Given the description of an element on the screen output the (x, y) to click on. 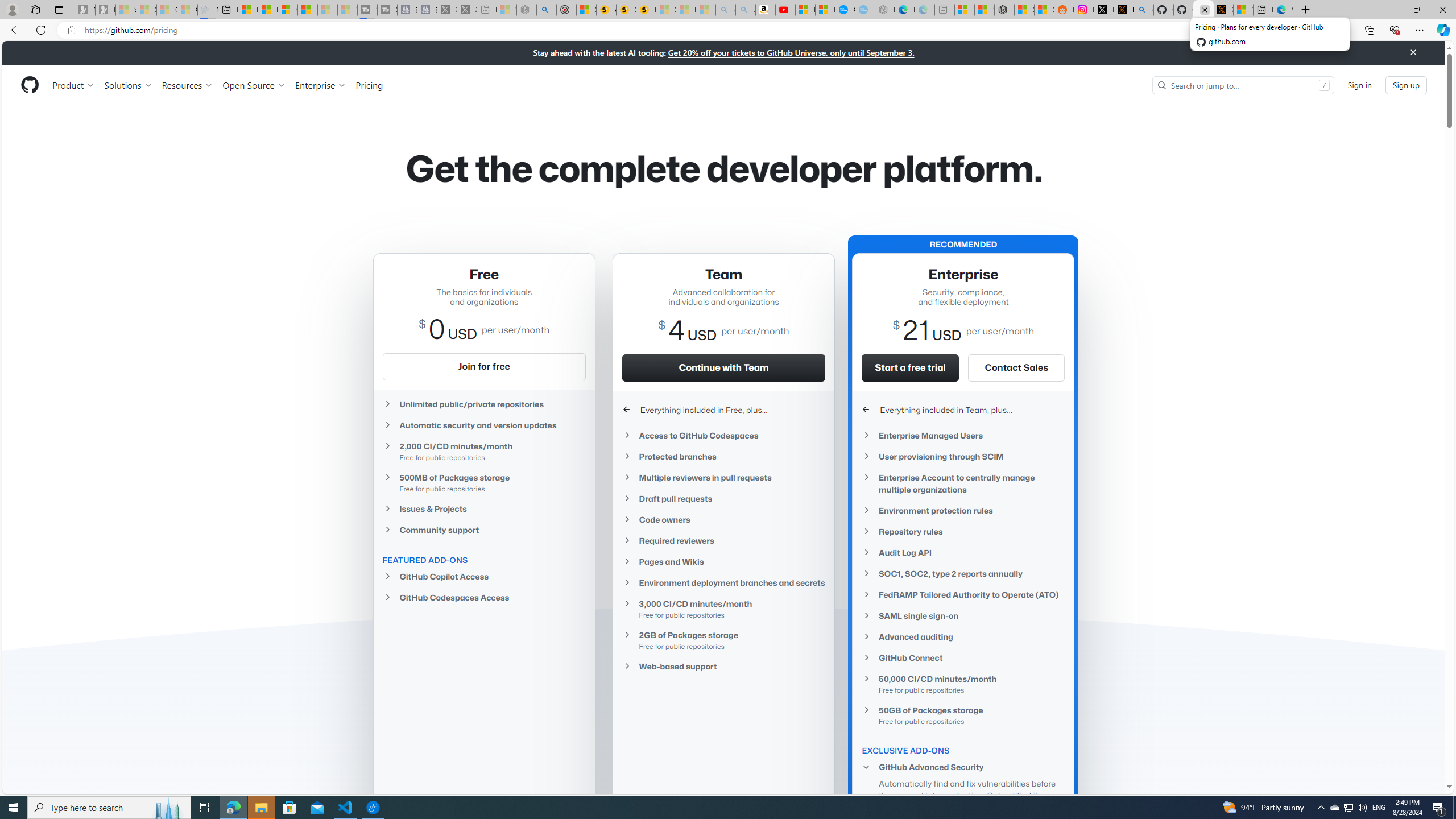
Repository rules (963, 531)
Audit Log API (963, 552)
Continue with Team (723, 367)
The most popular Google 'how to' searches - Sleeping (864, 9)
50GB of Packages storage Free for public repositories (963, 715)
Pricing (368, 84)
Access to GitHub Codespaces (723, 435)
